Given the description of an element on the screen output the (x, y) to click on. 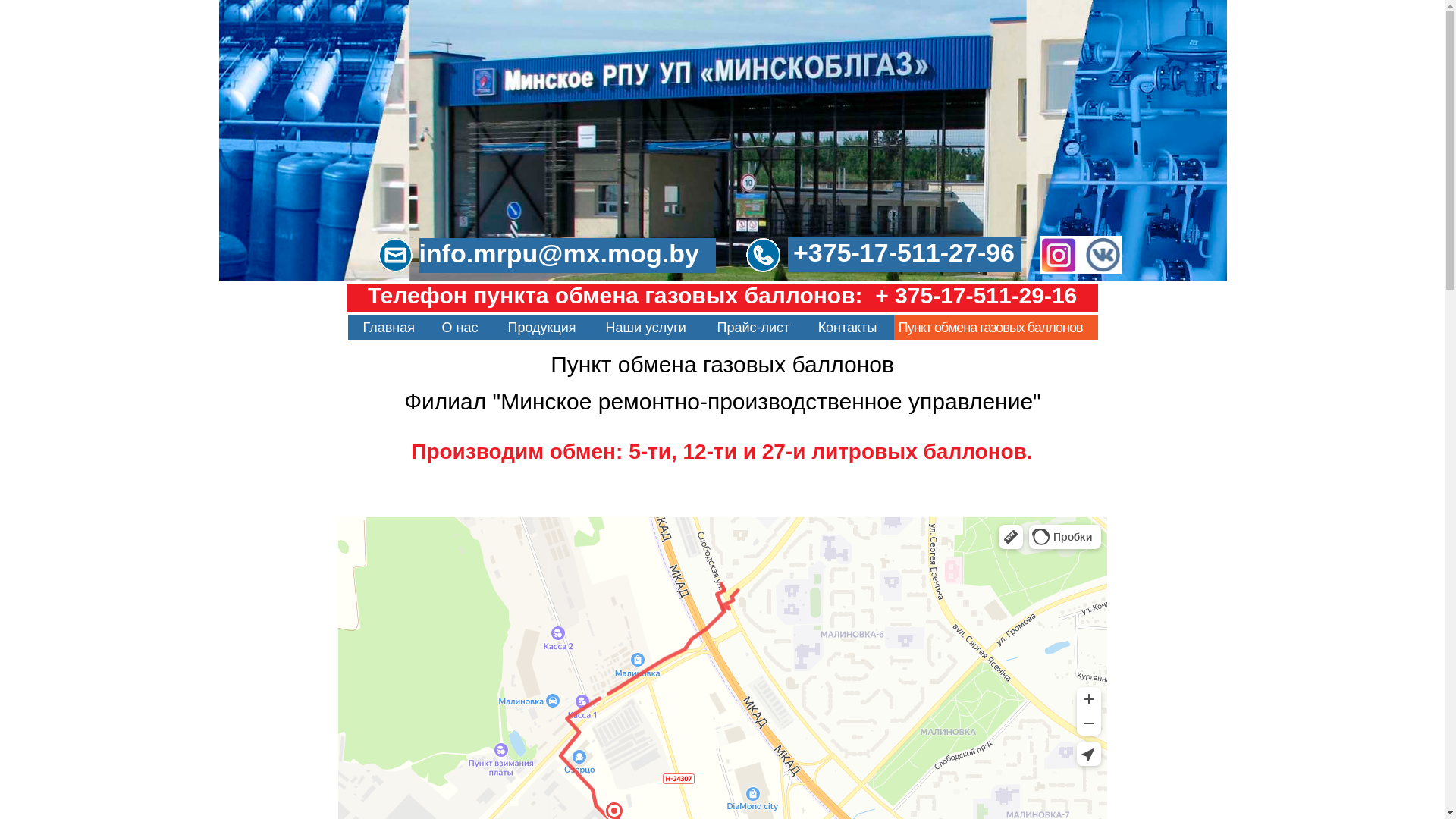
info.mrpu@mx.mog.by Element type: text (566, 255)
